Given the description of an element on the screen output the (x, y) to click on. 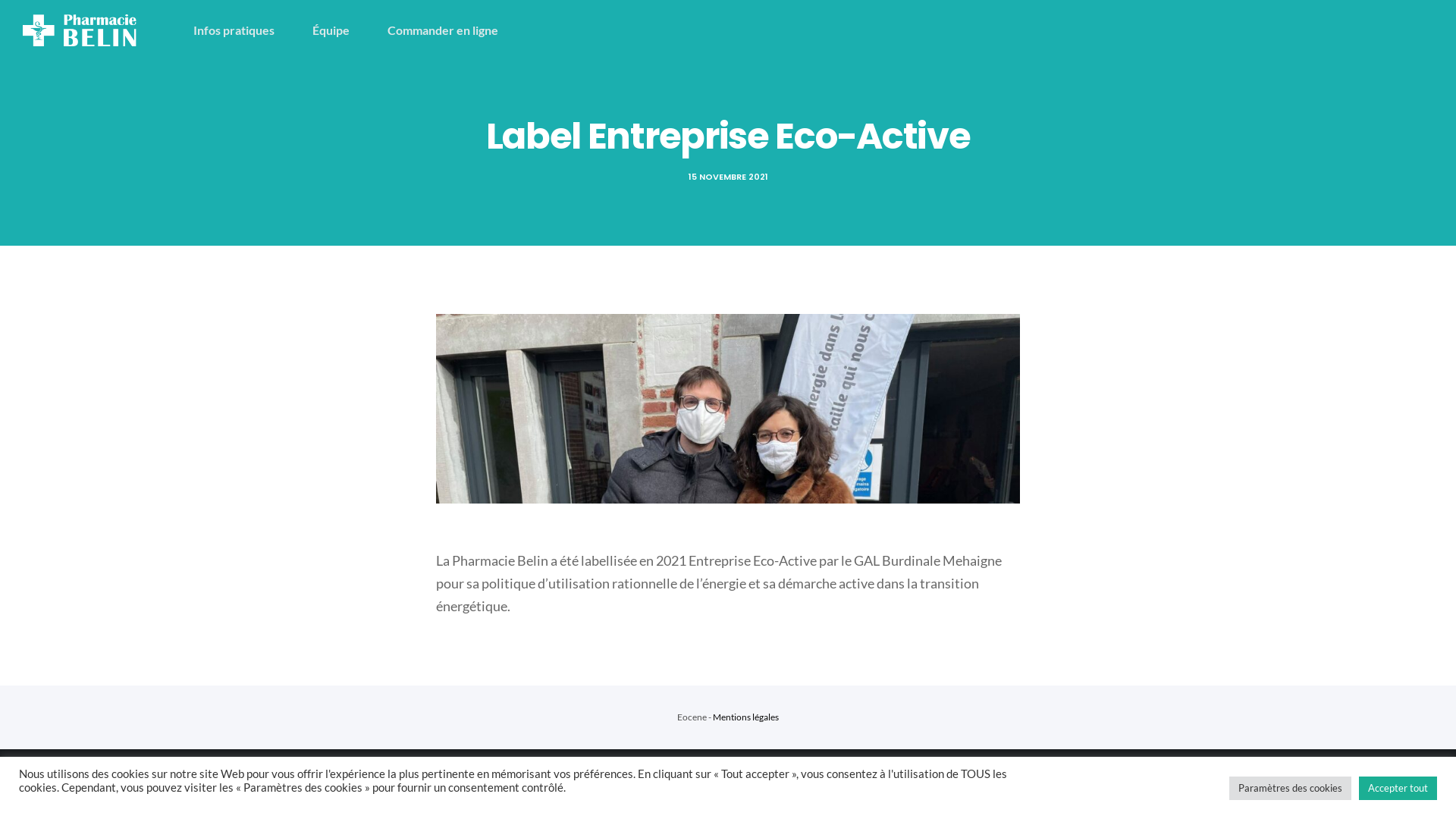
Infos pratiques Element type: text (252, 30)
Accepter tout Element type: text (1397, 788)
Commander en ligne Element type: text (461, 30)
